Given the description of an element on the screen output the (x, y) to click on. 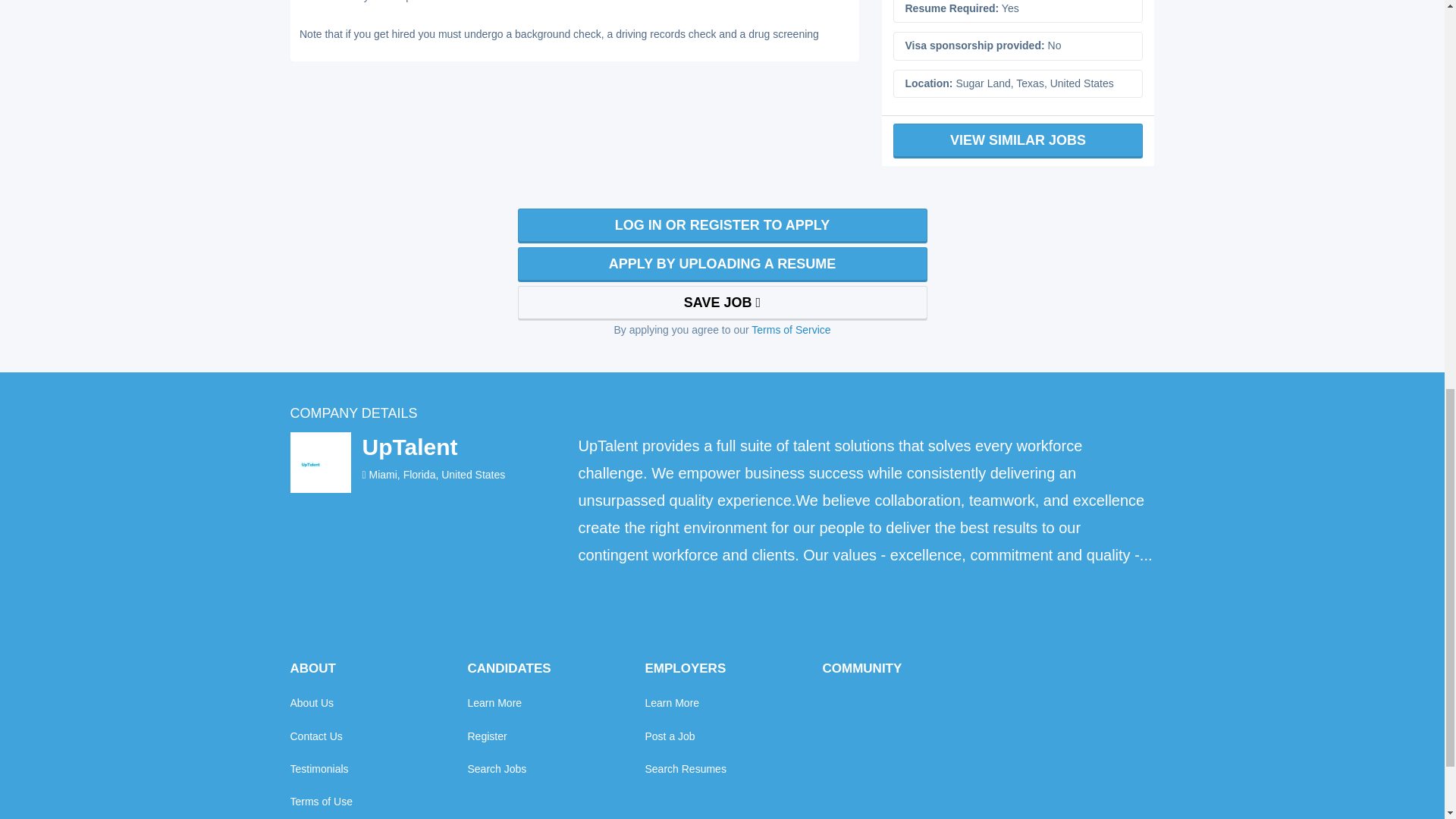
UpTalent (409, 446)
About Us (311, 703)
Terms of Service (790, 329)
SAVE JOB (721, 303)
Learn More (494, 703)
Testimonials (318, 768)
Search Jobs (496, 768)
VIEW SIMILAR JOBS (1017, 140)
Register (486, 735)
Contact Us (315, 735)
